Given the description of an element on the screen output the (x, y) to click on. 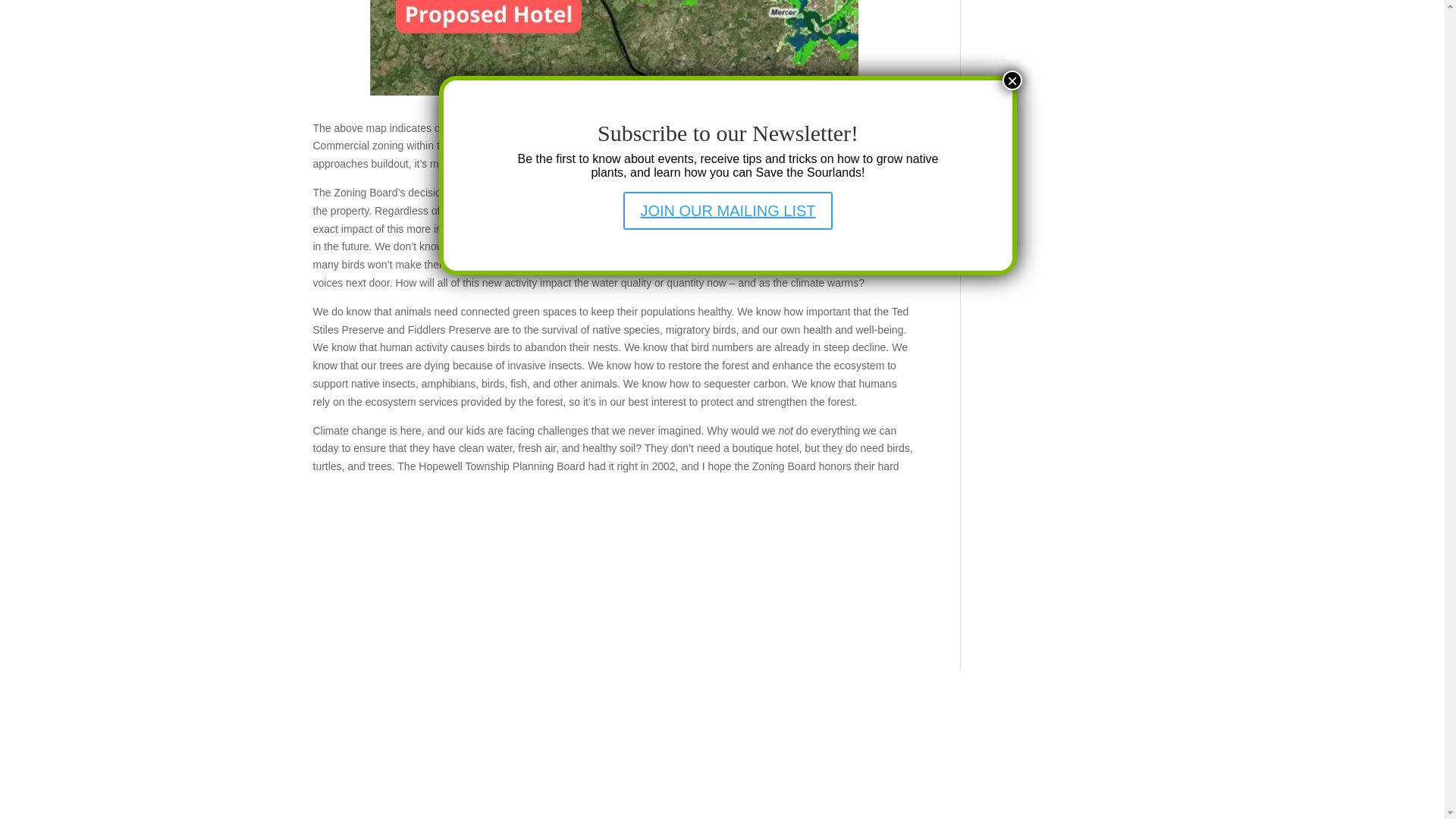
Follow on Youtube (766, 701)
Follow on Instagram (737, 701)
Follow on X (706, 701)
Follow on Facebook (675, 701)
